Given the description of an element on the screen output the (x, y) to click on. 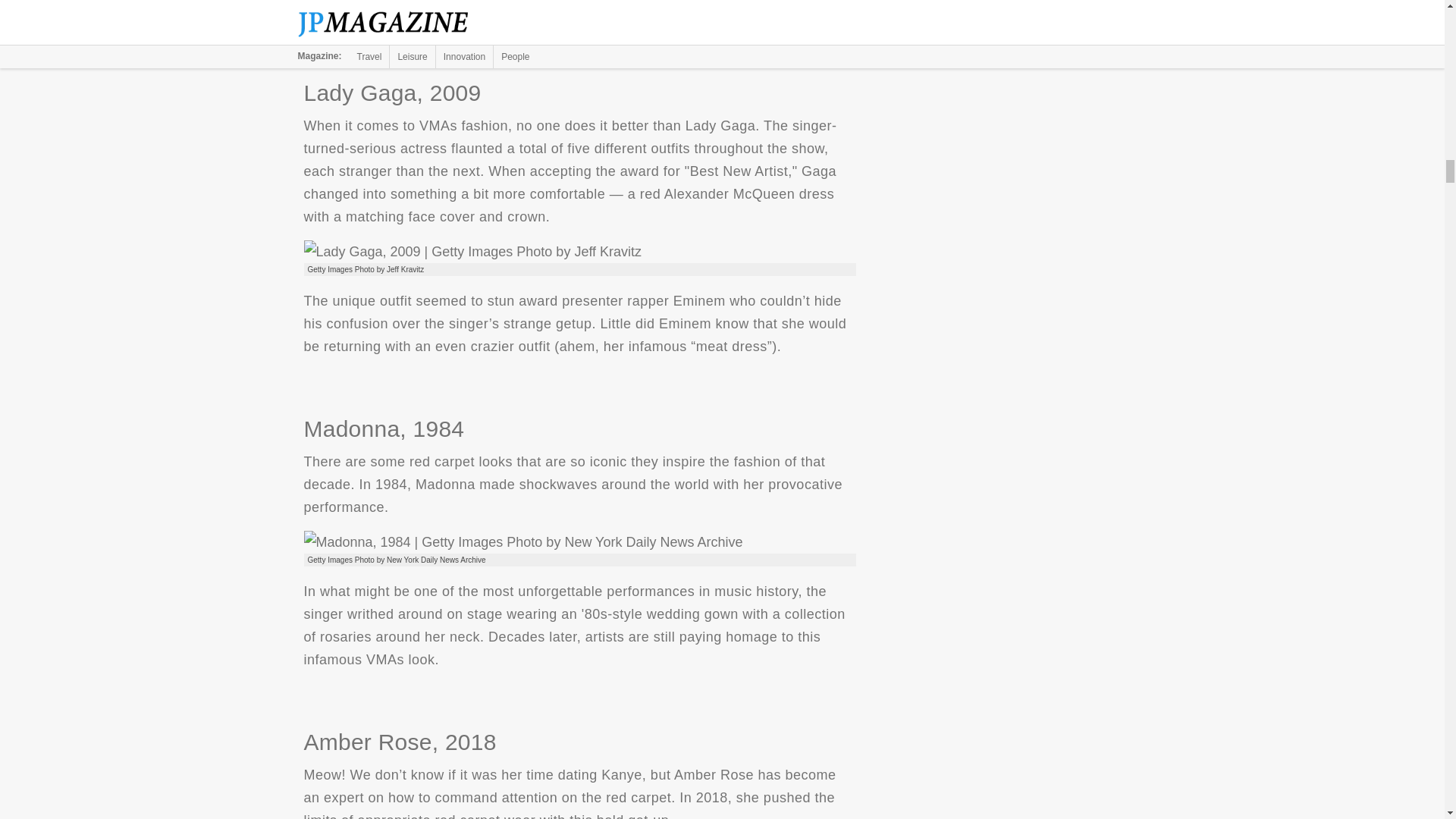
Lady Gaga, 2009 (472, 251)
Madonna, 1984 (522, 541)
